Given the description of an element on the screen output the (x, y) to click on. 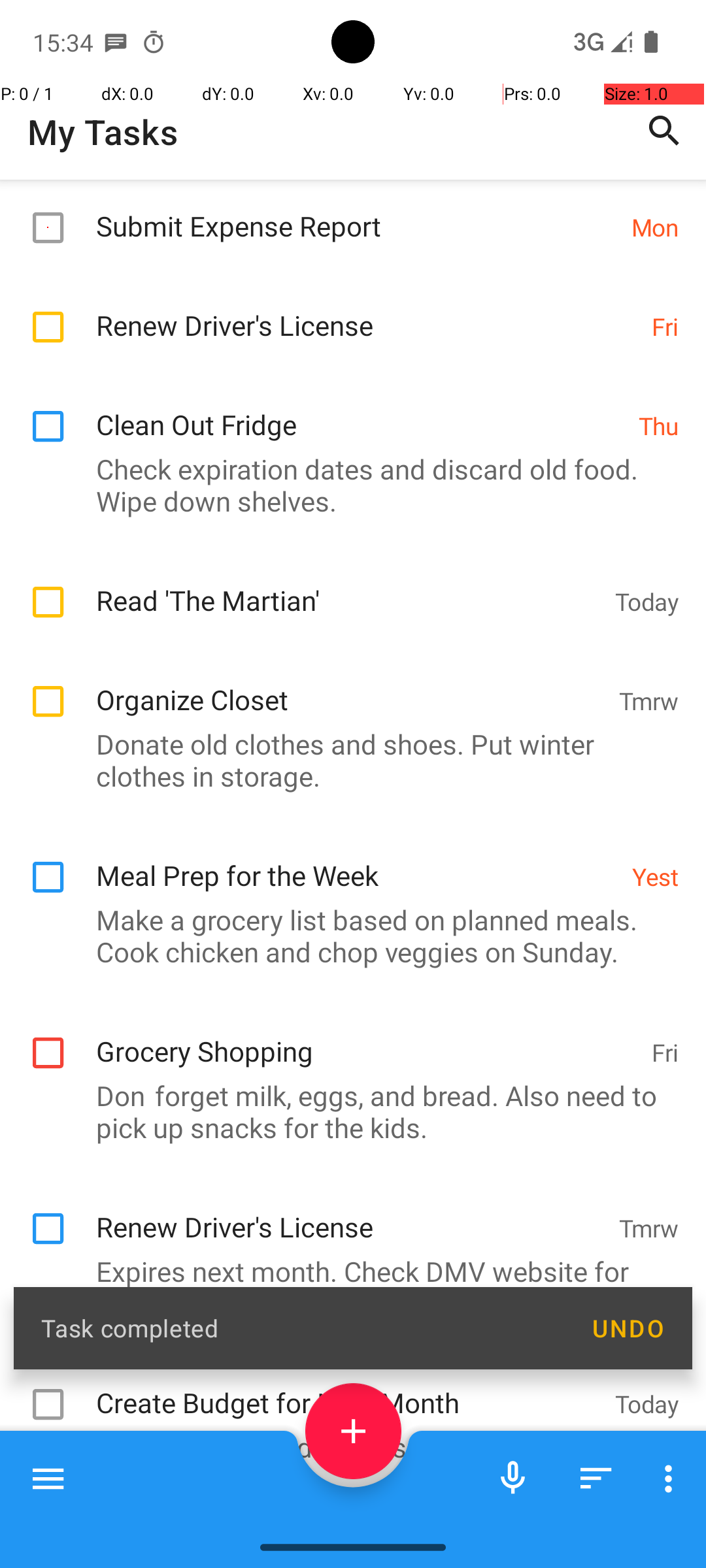
Task completed Element type: android.widget.TextView (302, 1327)
